Given the description of an element on the screen output the (x, y) to click on. 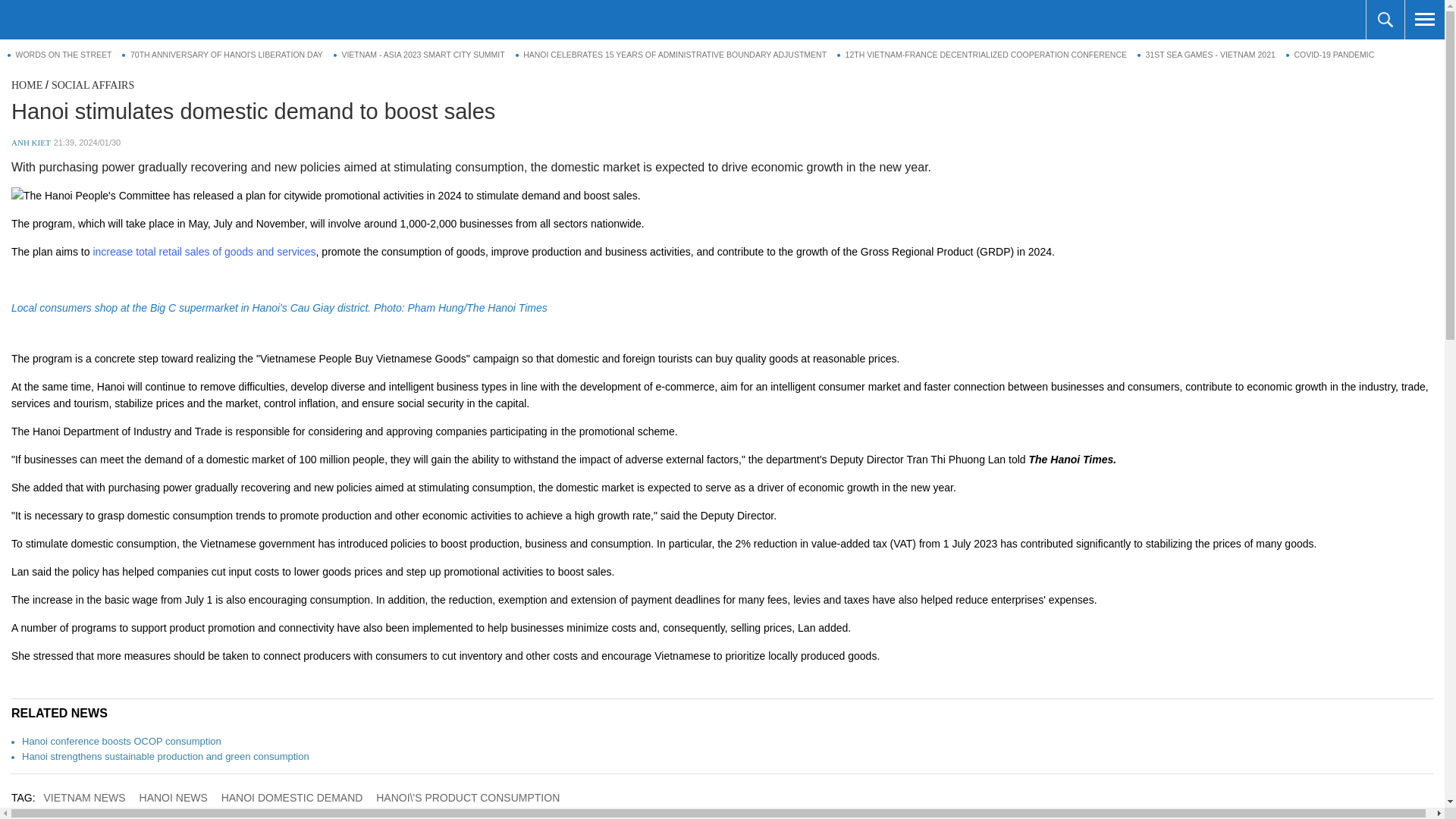
COVID-19 PANDEMIC (1329, 54)
WORDS ON THE STREET (59, 54)
increase total retail sales of goods and services (204, 251)
Hanoi conference boosts OCOP consumption (121, 740)
31st Sea Games - Vietnam 2021 (1206, 54)
HANOI NEWS (172, 797)
ANH KIET (30, 142)
HOME (26, 85)
